Given the description of an element on the screen output the (x, y) to click on. 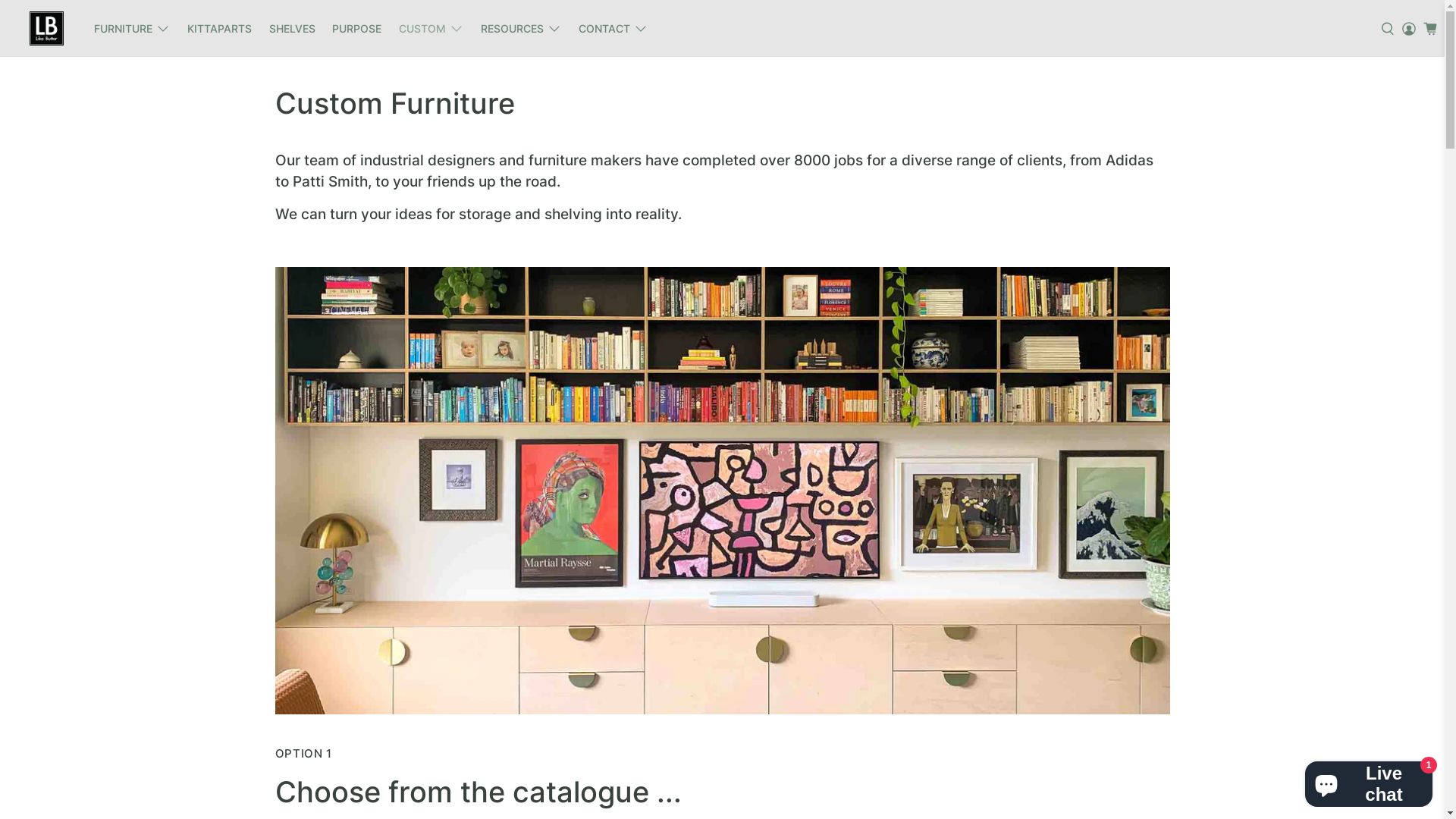
RESOURCES Element type: text (520, 28)
KITTAPARTS Element type: text (219, 28)
FURNITURE Element type: text (131, 28)
Shopify online store chat Element type: hover (1368, 780)
CONTACT Element type: text (613, 28)
PURPOSE Element type: text (356, 28)
Like Butter Pty Ltd Element type: hover (45, 28)
CUSTOM Element type: text (430, 28)
SHELVES Element type: text (291, 28)
